Given the description of an element on the screen output the (x, y) to click on. 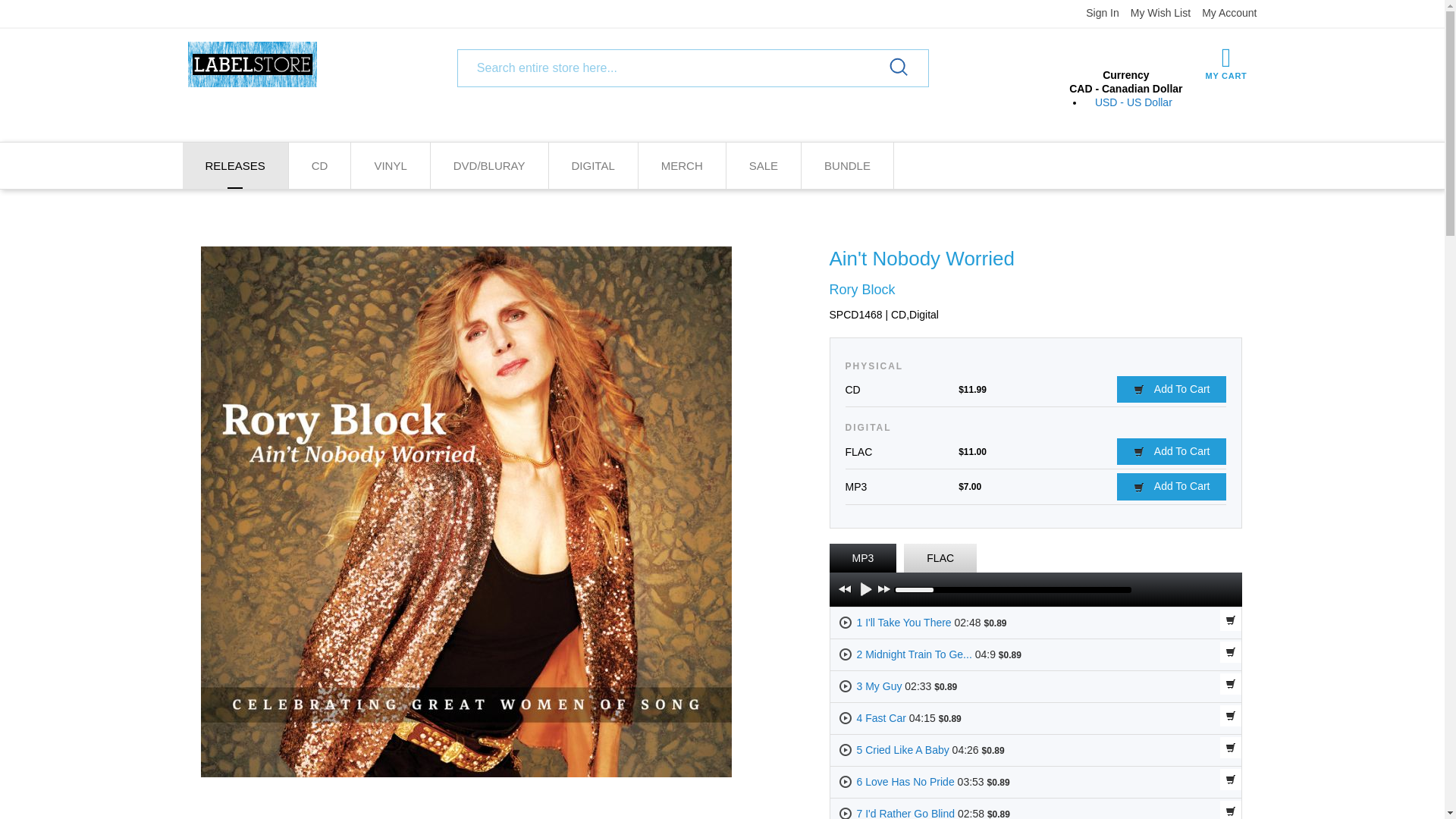
Add To Cart (1170, 486)
Add to Cart (1170, 388)
Add To Cart (1170, 388)
DIGITAL (592, 165)
My Wish List (1161, 12)
Fast Car (884, 717)
MY CART (1226, 62)
Add track to shopping cart (1230, 651)
Add track to shopping cart (1230, 683)
